Given the description of an element on the screen output the (x, y) to click on. 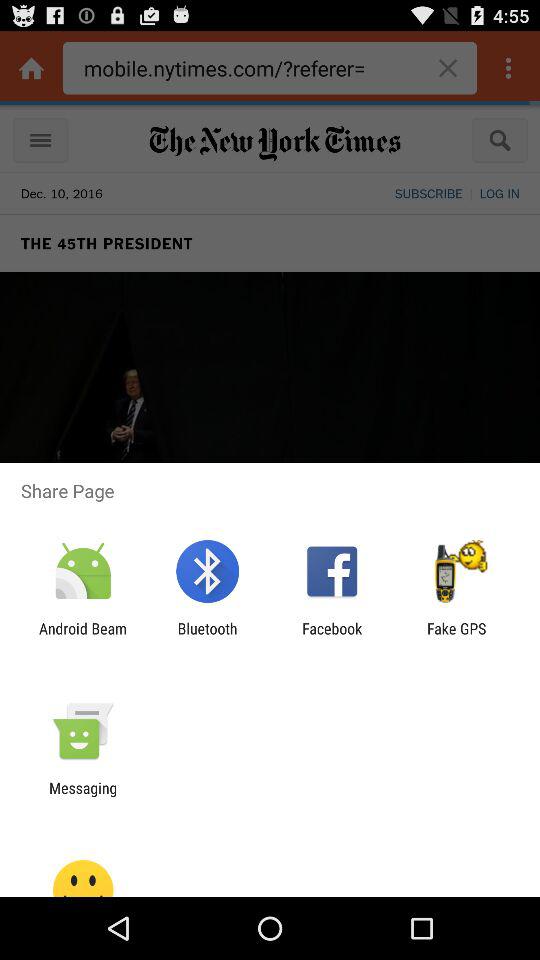
tap the icon to the right of the bluetooth icon (332, 637)
